Given the description of an element on the screen output the (x, y) to click on. 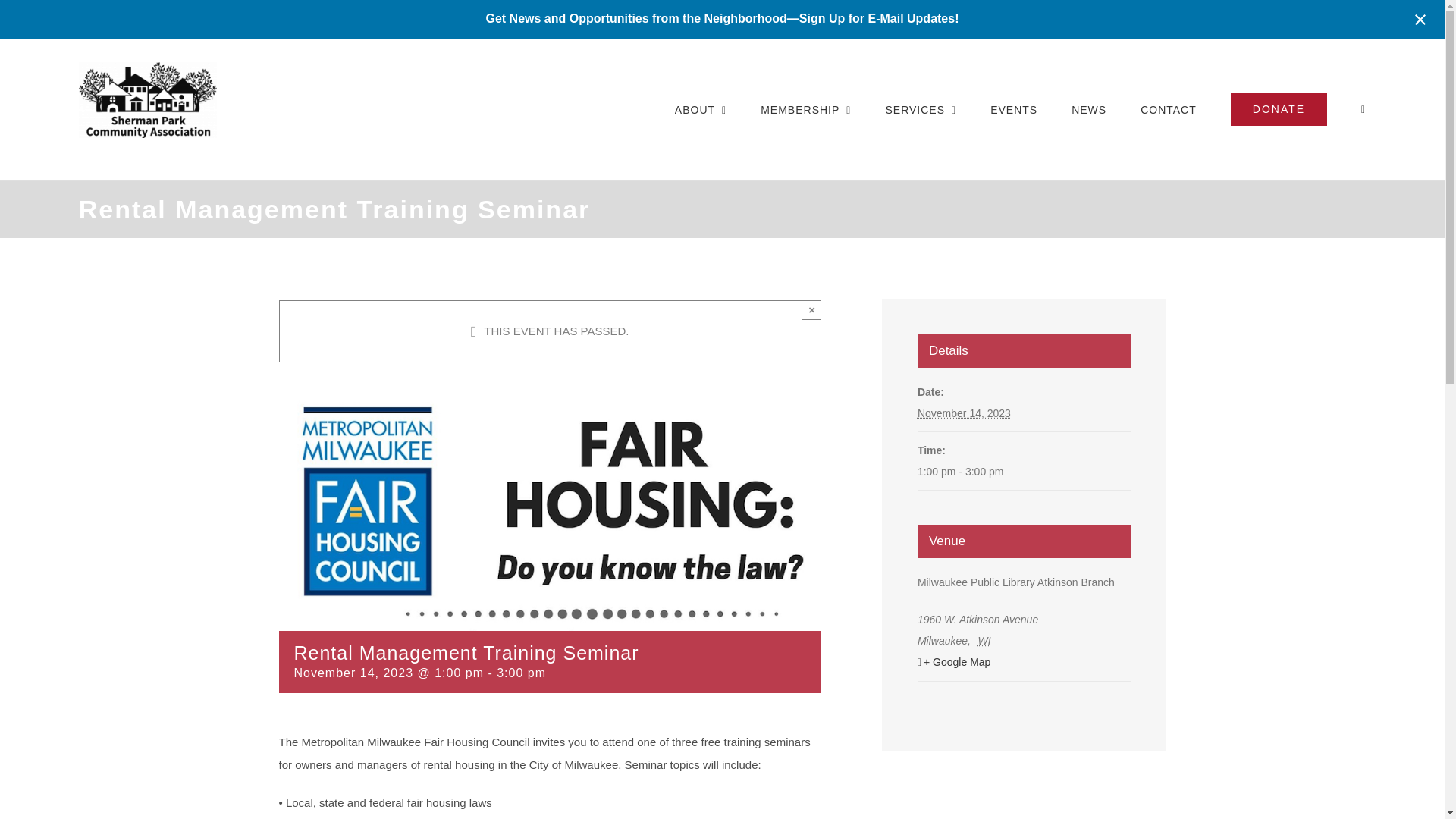
DONATE (1278, 109)
EVENTS (1013, 109)
2023-11-14 (1024, 471)
CONTACT (1168, 109)
Wisconsin (985, 640)
MEMBERSHIP (805, 109)
ABOUT (700, 109)
Click to view a Google Map (1022, 662)
NEWS (1088, 109)
SERVICES (920, 109)
2023-11-14 (963, 413)
